Given the description of an element on the screen output the (x, y) to click on. 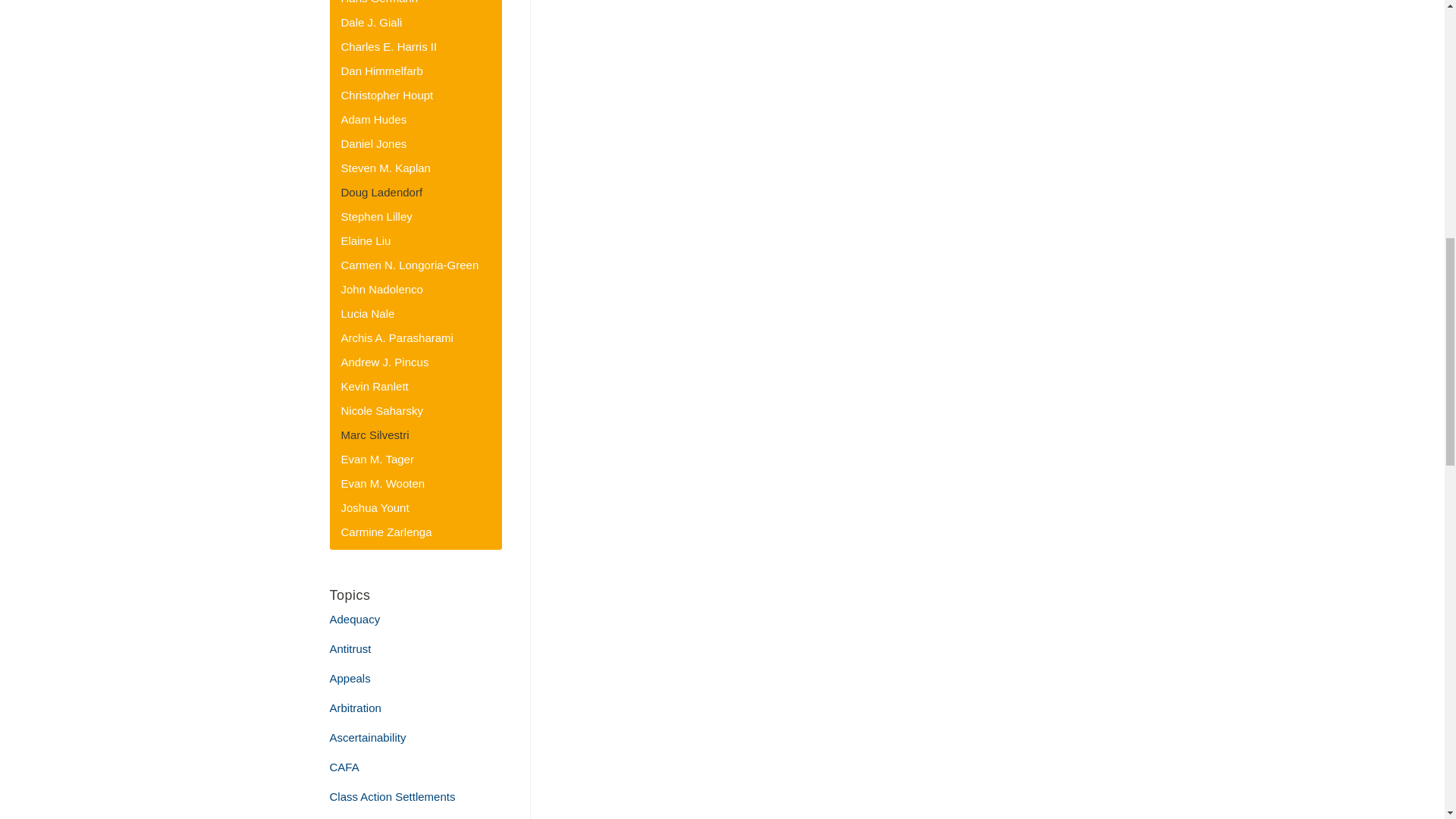
Adam Hudes (373, 119)
Hans Germann (379, 2)
Christopher Houpt (386, 94)
Dale J. Giali (371, 21)
Dan Himmelfarb (381, 70)
Daniel Jones (373, 143)
Steven M. Kaplan (385, 167)
Charles E. Harris II (389, 46)
